Given the description of an element on the screen output the (x, y) to click on. 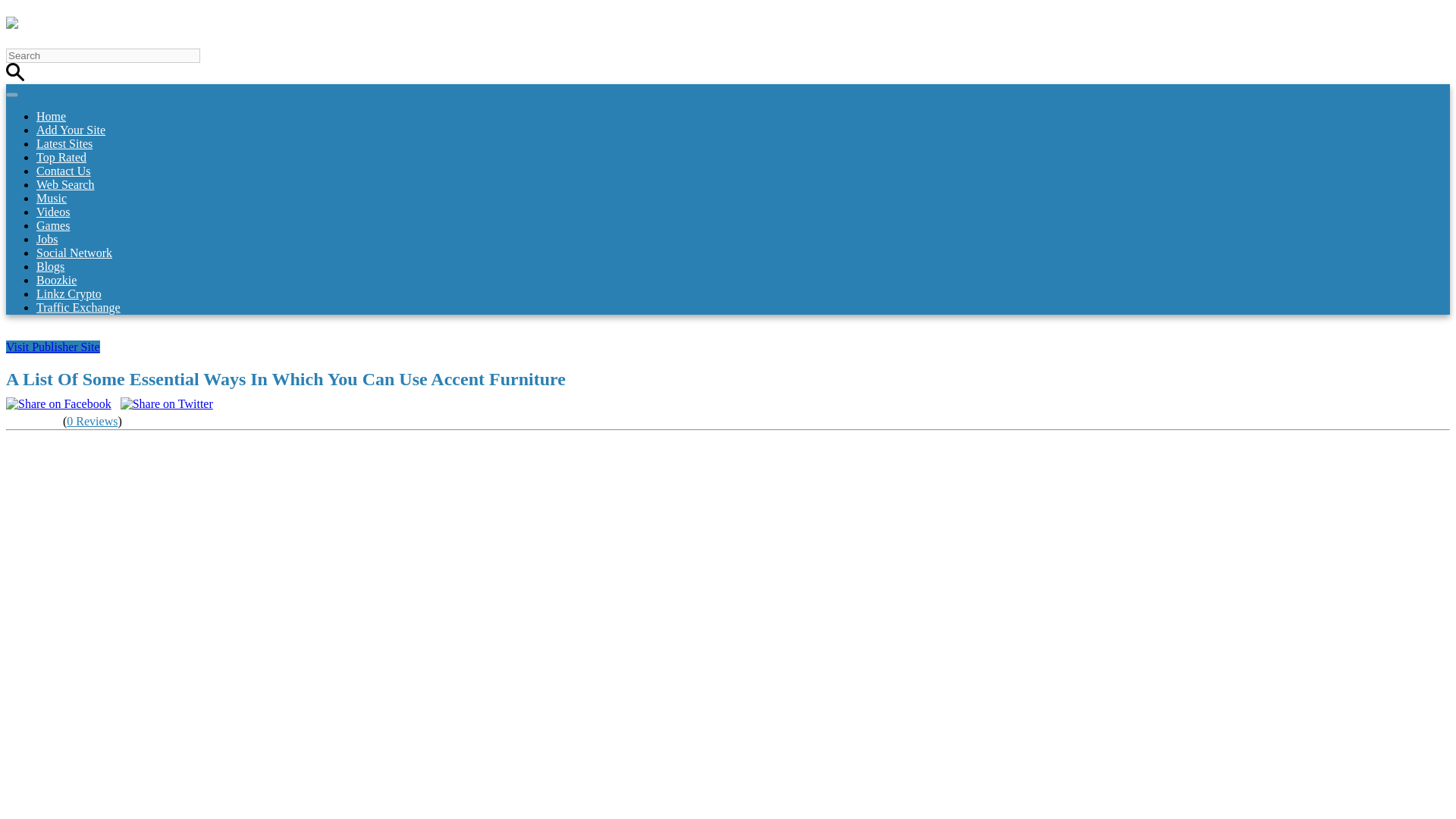
0 Reviews (91, 420)
Top Rated (60, 156)
Contact Us (63, 170)
Jobs (47, 238)
Social Network (74, 252)
Home (50, 115)
Web Search (65, 184)
Boozkie (56, 279)
Linkz Crypto (68, 293)
Videos (52, 211)
